Given the description of an element on the screen output the (x, y) to click on. 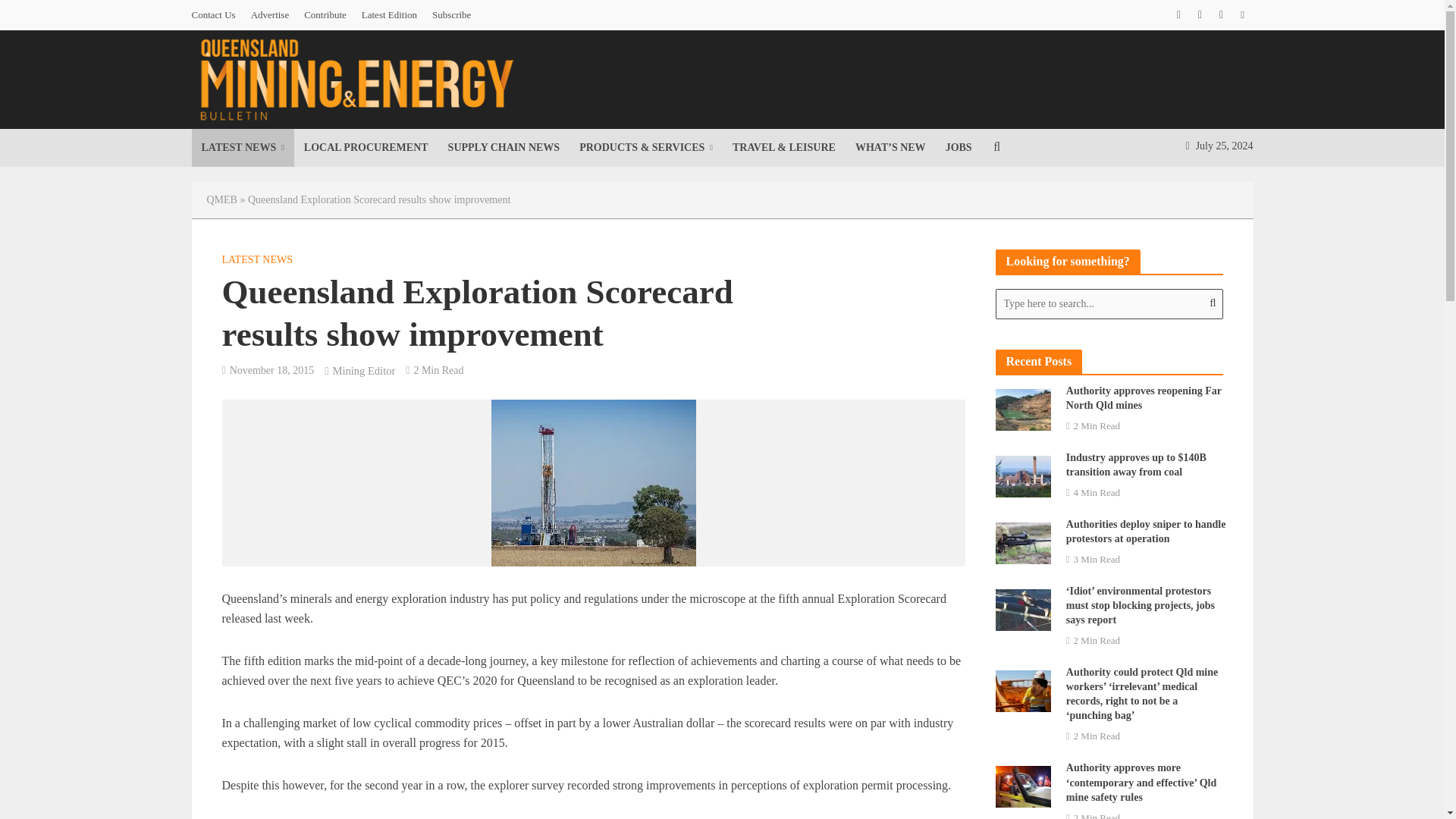
Authority approves reopening Far North Qld mines (1021, 408)
LOCAL PROCUREMENT (366, 147)
Contact Us (216, 15)
Subscribe (452, 15)
Authorities deploy sniper to handle protestors at operation (1021, 541)
Advertise (270, 15)
Contribute (325, 15)
SUPPLY CHAIN NEWS (504, 147)
Latest Edition (389, 15)
LATEST NEWS (242, 147)
